Given the description of an element on the screen output the (x, y) to click on. 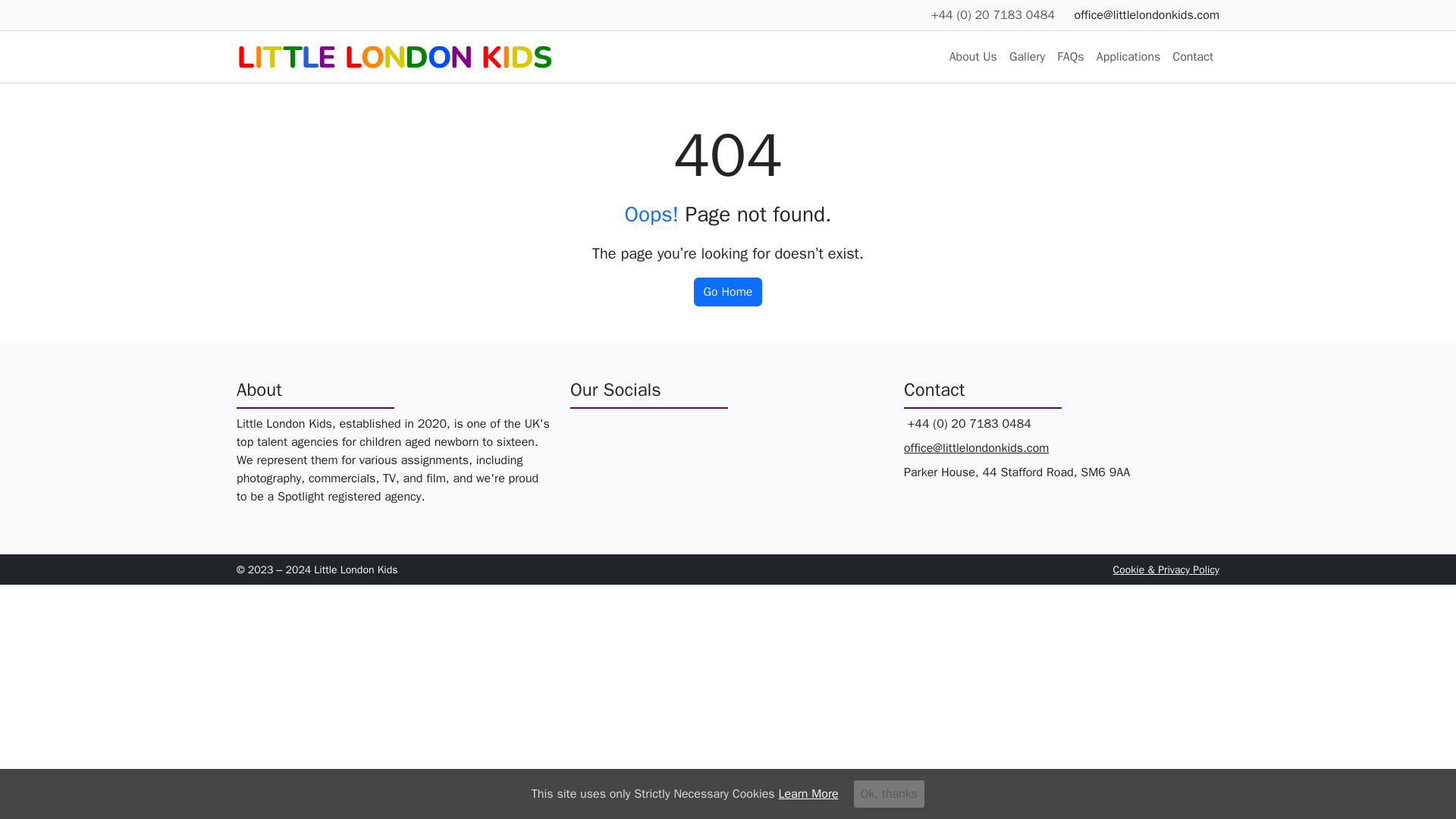
Contact (1193, 56)
About Us (973, 56)
Go Home (728, 291)
Applications (1128, 56)
Gallery (1027, 56)
FAQs (1070, 56)
